Given the description of an element on the screen output the (x, y) to click on. 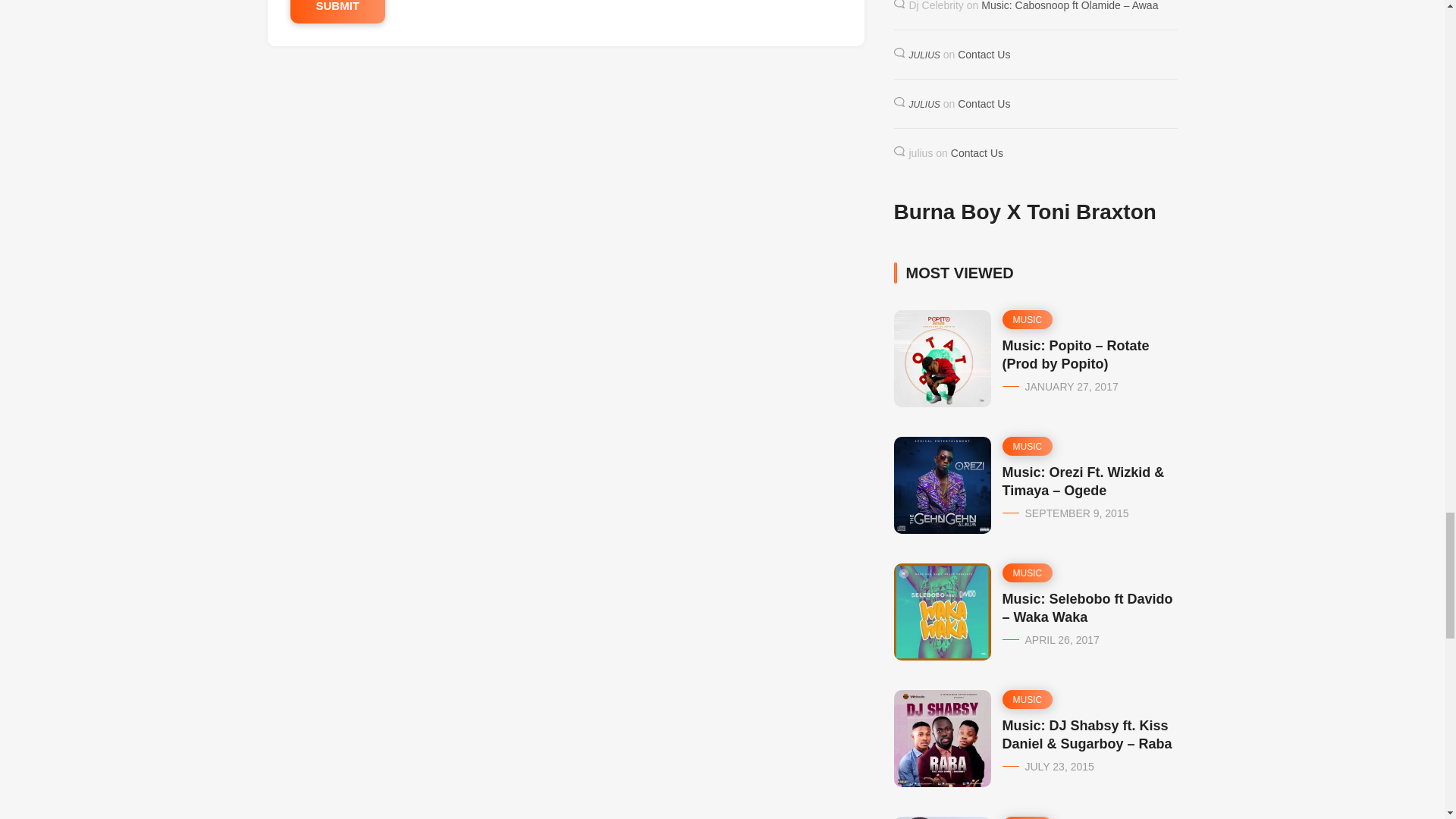
Submit (337, 11)
